Given the description of an element on the screen output the (x, y) to click on. 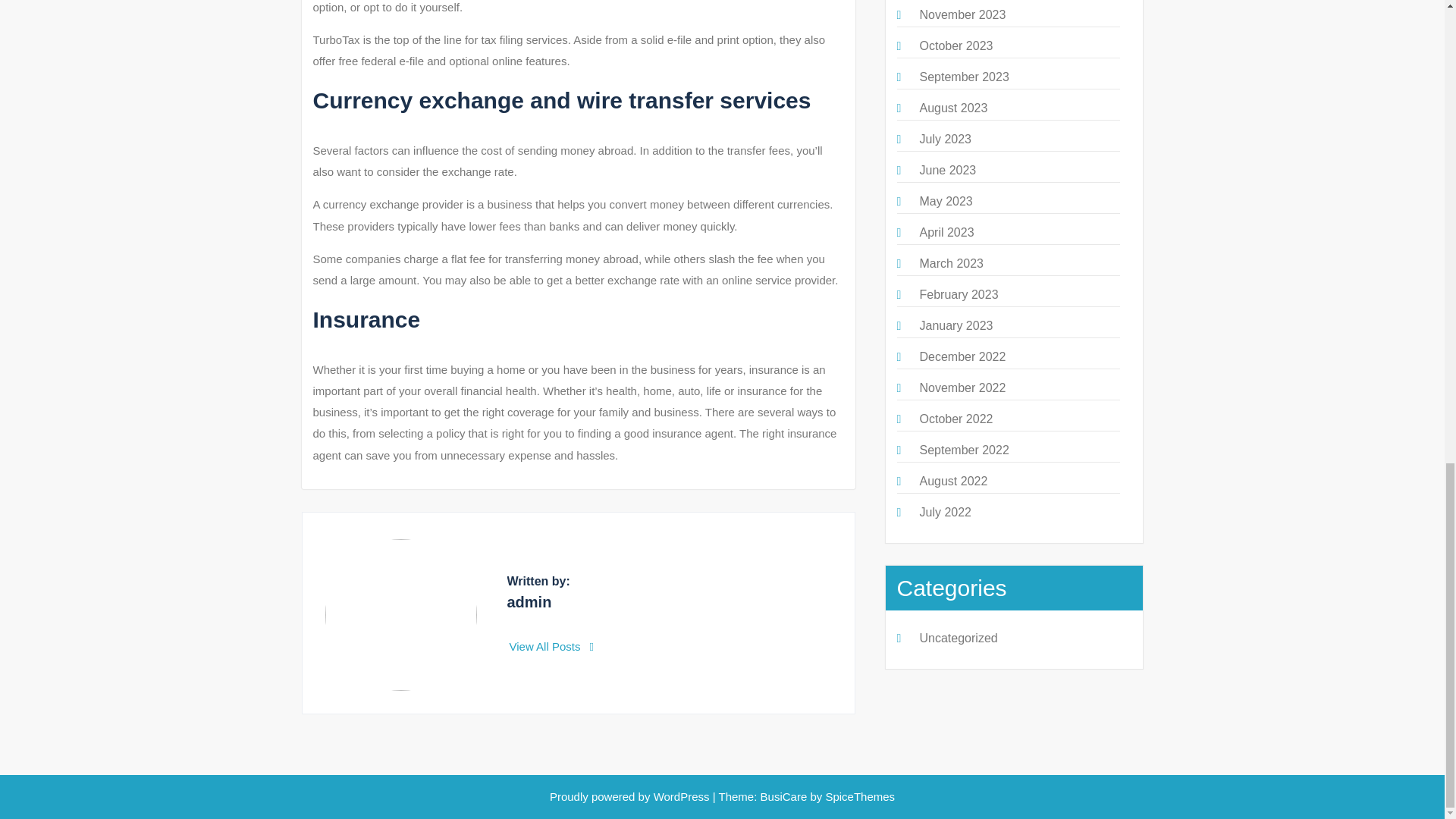
March 2023 (951, 263)
Uncategorized (957, 637)
December 2022 (962, 356)
June 2023 (946, 169)
August 2023 (952, 107)
August 2022 (952, 481)
View All Posts (551, 645)
July 2022 (944, 512)
WordPress (681, 796)
May 2023 (945, 201)
April 2023 (946, 232)
September 2022 (963, 449)
October 2023 (955, 45)
November 2022 (962, 387)
February 2023 (957, 294)
